Given the description of an element on the screen output the (x, y) to click on. 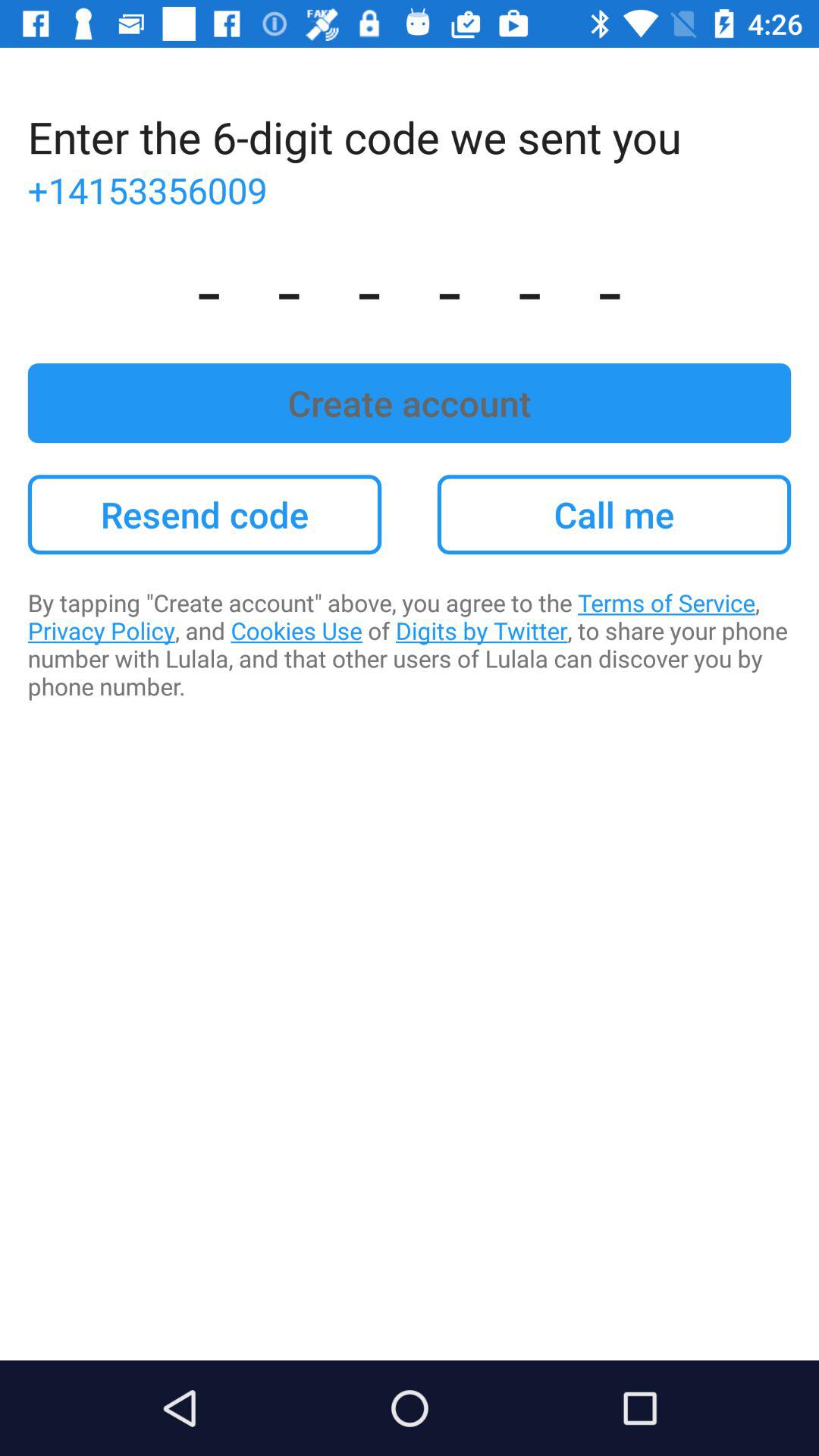
open by tapping create (409, 644)
